Given the description of an element on the screen output the (x, y) to click on. 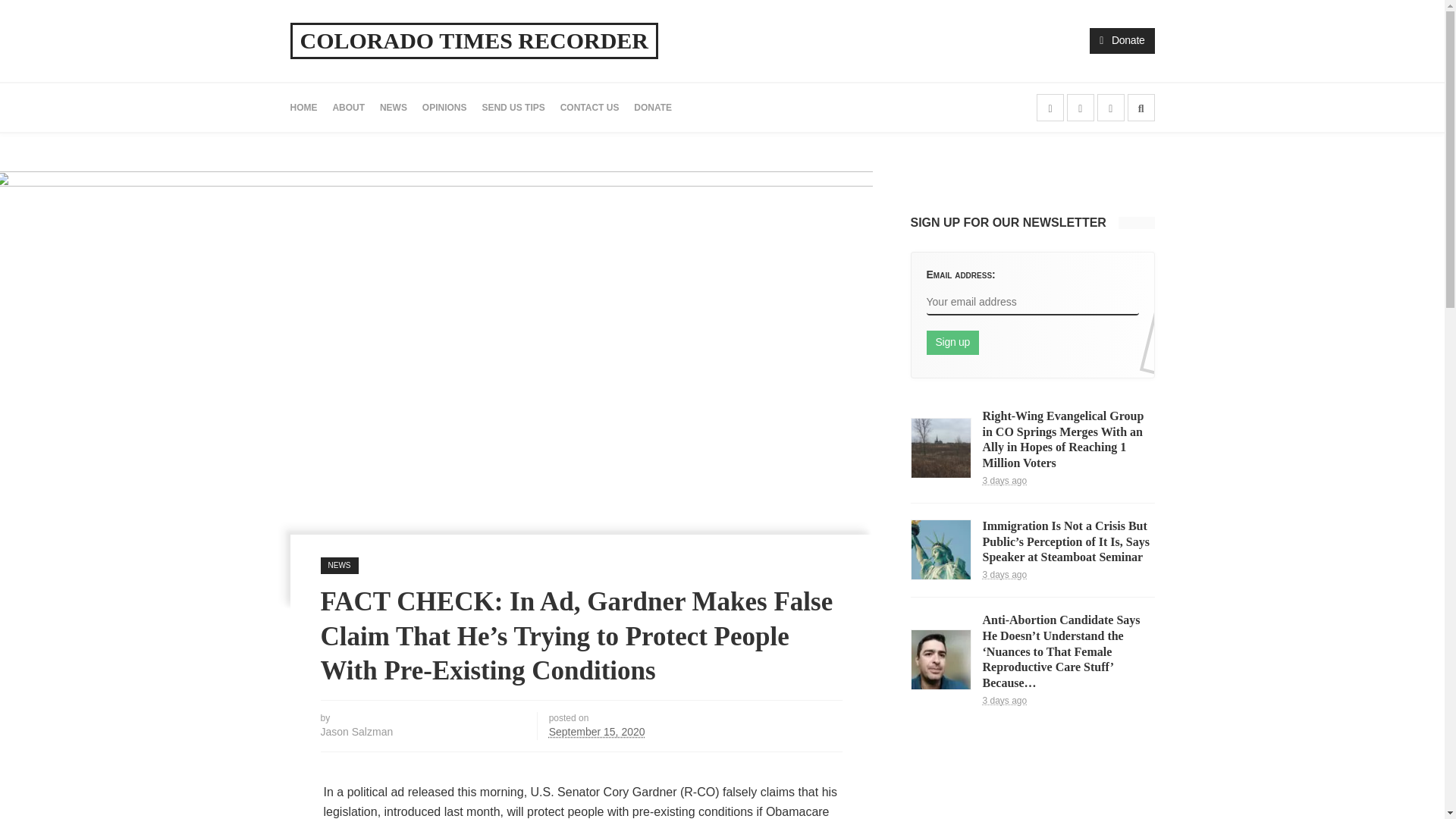
OPINIONS (444, 107)
Posts by Jason Salzman (356, 731)
X (1080, 106)
Colorado Times Recorder (474, 40)
NEWS (339, 565)
View all posts in News (339, 565)
CONTACT US (590, 107)
Facebook (1050, 106)
Sign up (952, 342)
COLORADO TIMES RECORDER (474, 40)
RSS (1110, 106)
SEND US TIPS (512, 107)
Jason Salzman (356, 731)
   Donate (1121, 39)
